Given the description of an element on the screen output the (x, y) to click on. 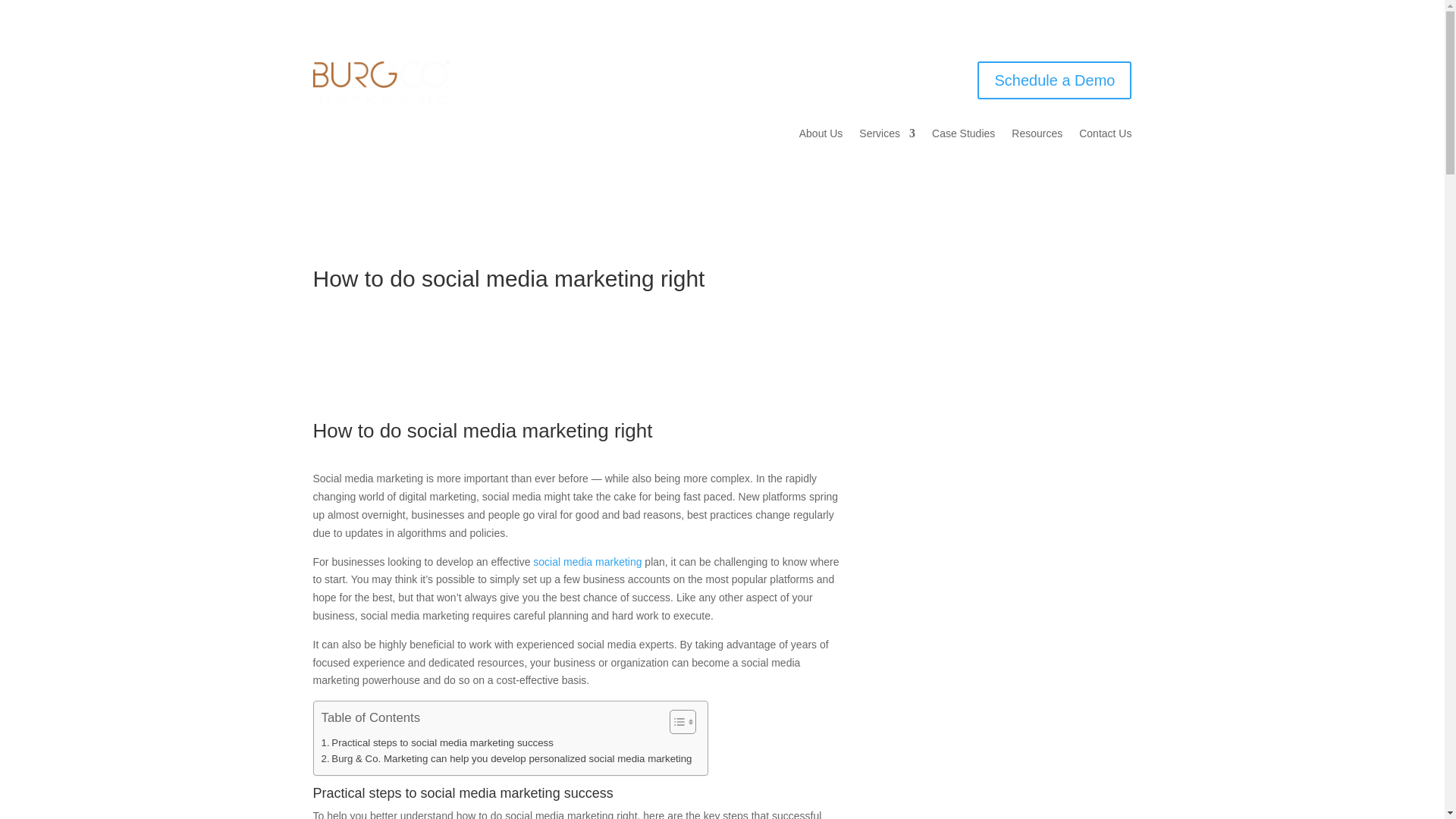
social media marketing (587, 562)
Practical steps to social media marketing success (437, 742)
Case Studies (962, 135)
Contact Us (1104, 135)
Services (887, 135)
About Us (821, 135)
Resources (1036, 135)
Practical steps to social media marketing success (437, 742)
Schedule a Demo (1053, 80)
